Given the description of an element on the screen output the (x, y) to click on. 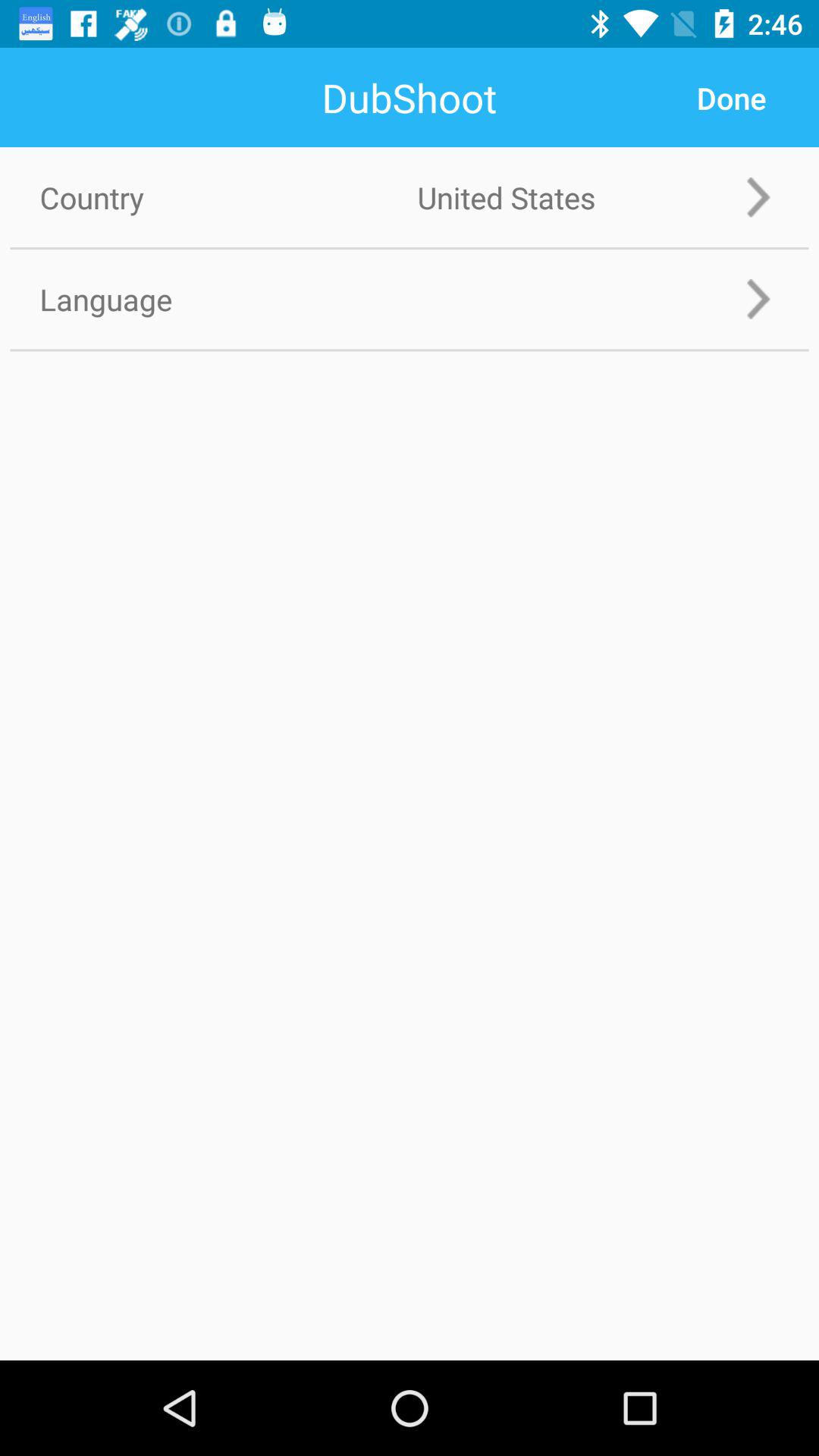
launch the done button (731, 97)
